Given the description of an element on the screen output the (x, y) to click on. 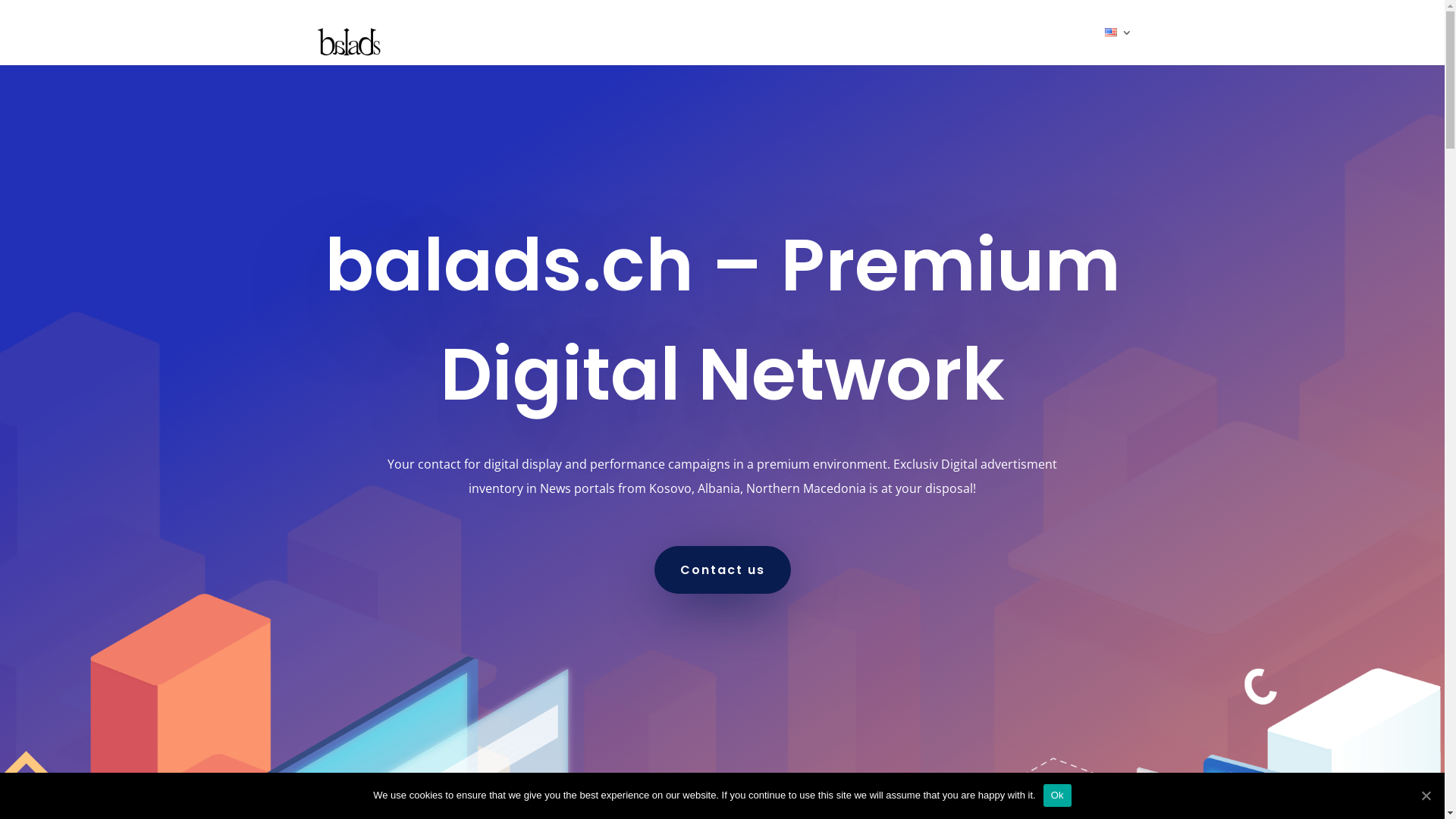
Ok Element type: text (1057, 795)
Contact us Element type: text (721, 569)
English (en_US) Element type: hover (1110, 32)
